Given the description of an element on the screen output the (x, y) to click on. 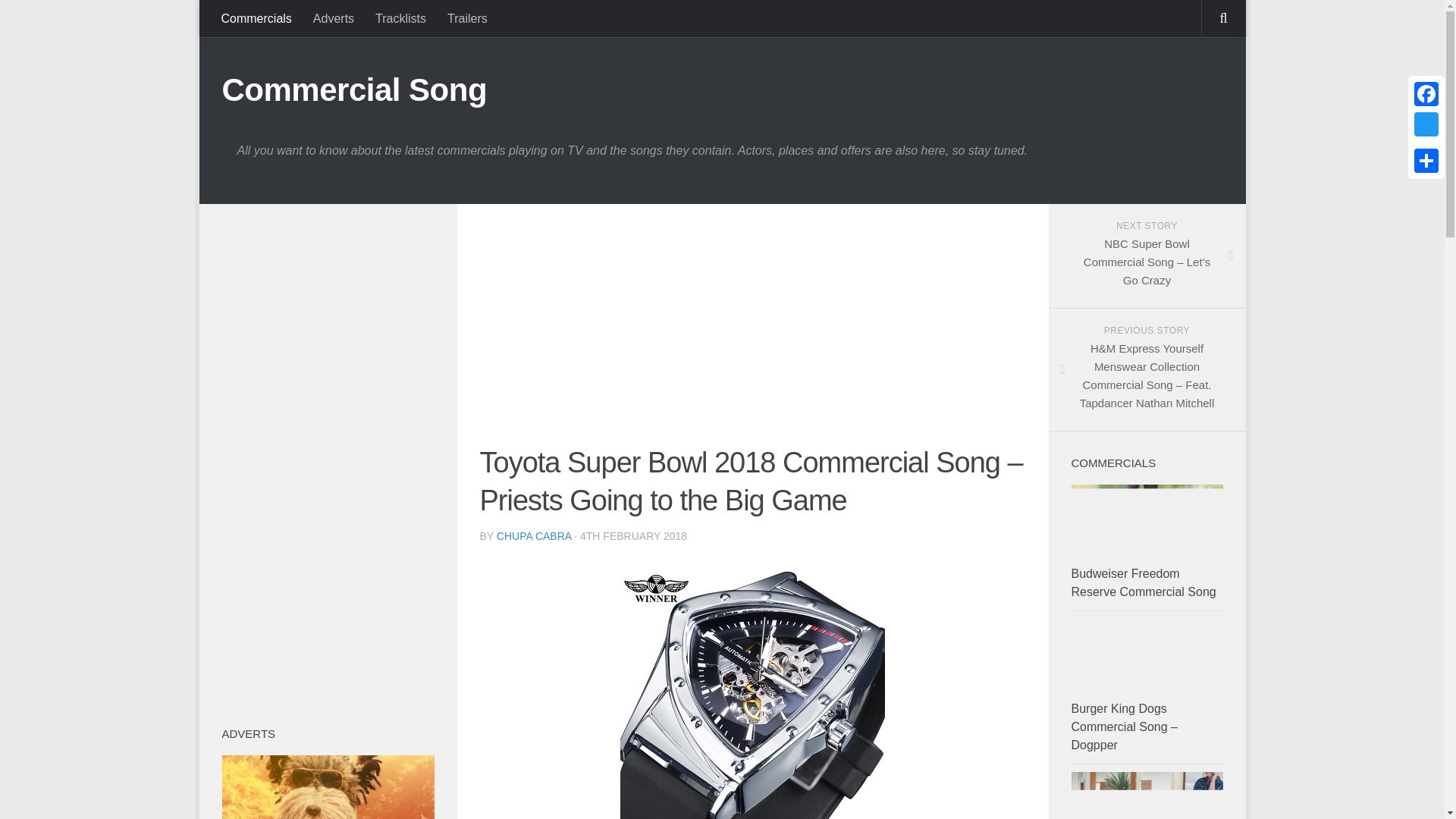
Commercials (256, 18)
Adverts (333, 18)
Trailers (466, 18)
Tracklists (400, 18)
CHUPA CABRA (534, 535)
Commercial Song (353, 90)
Posts by Chupa Cabra (534, 535)
